Given the description of an element on the screen output the (x, y) to click on. 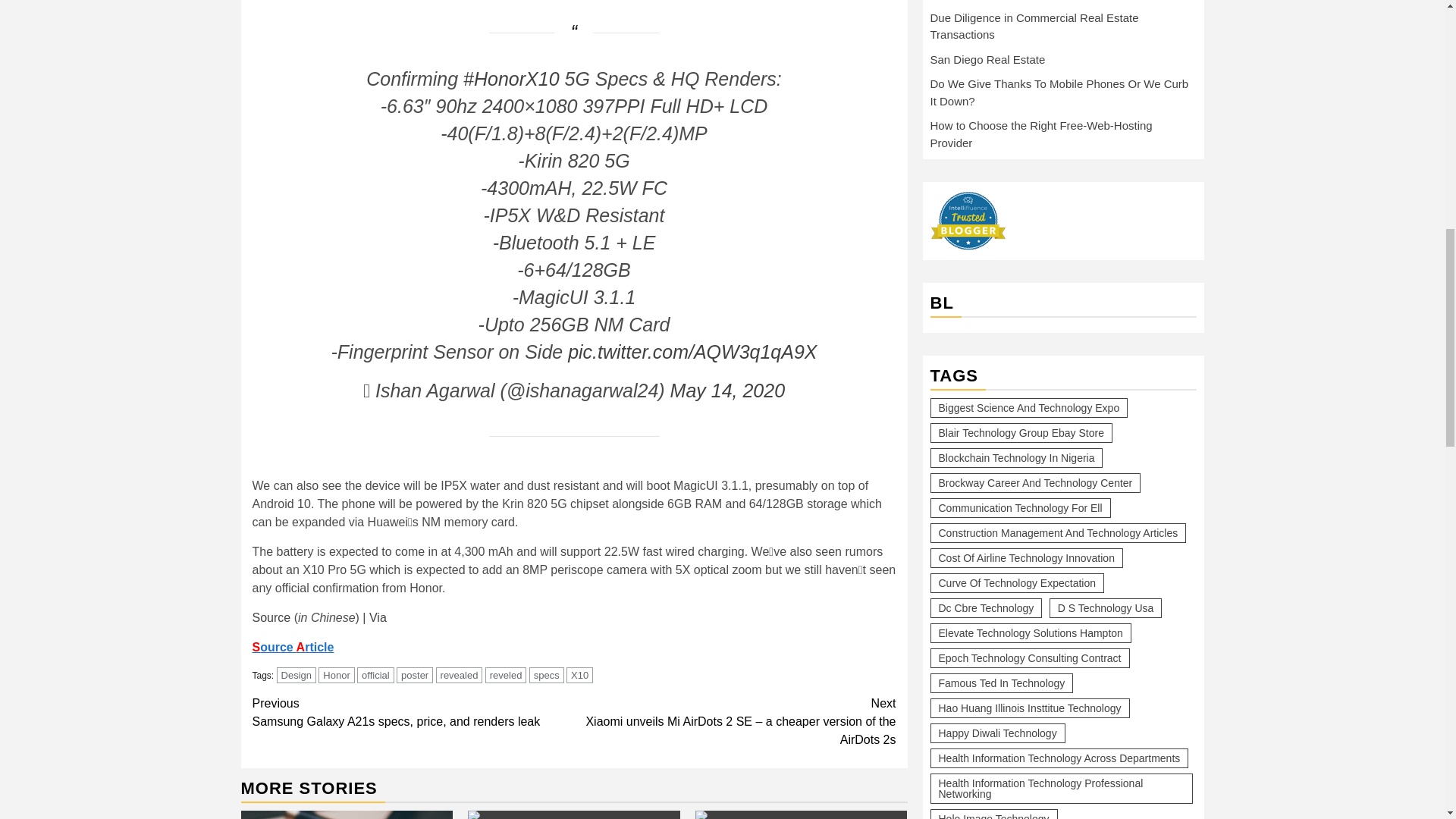
X10 (579, 675)
Via (378, 617)
specs (546, 675)
Source Article (292, 646)
May 14, 2020 (727, 390)
revealed (459, 675)
Design (295, 675)
official (375, 675)
poster (414, 675)
reveled (412, 712)
Do We Give Thanks To Mobile Phones Or We Curb It Down? (505, 675)
Honor (573, 814)
